Given the description of an element on the screen output the (x, y) to click on. 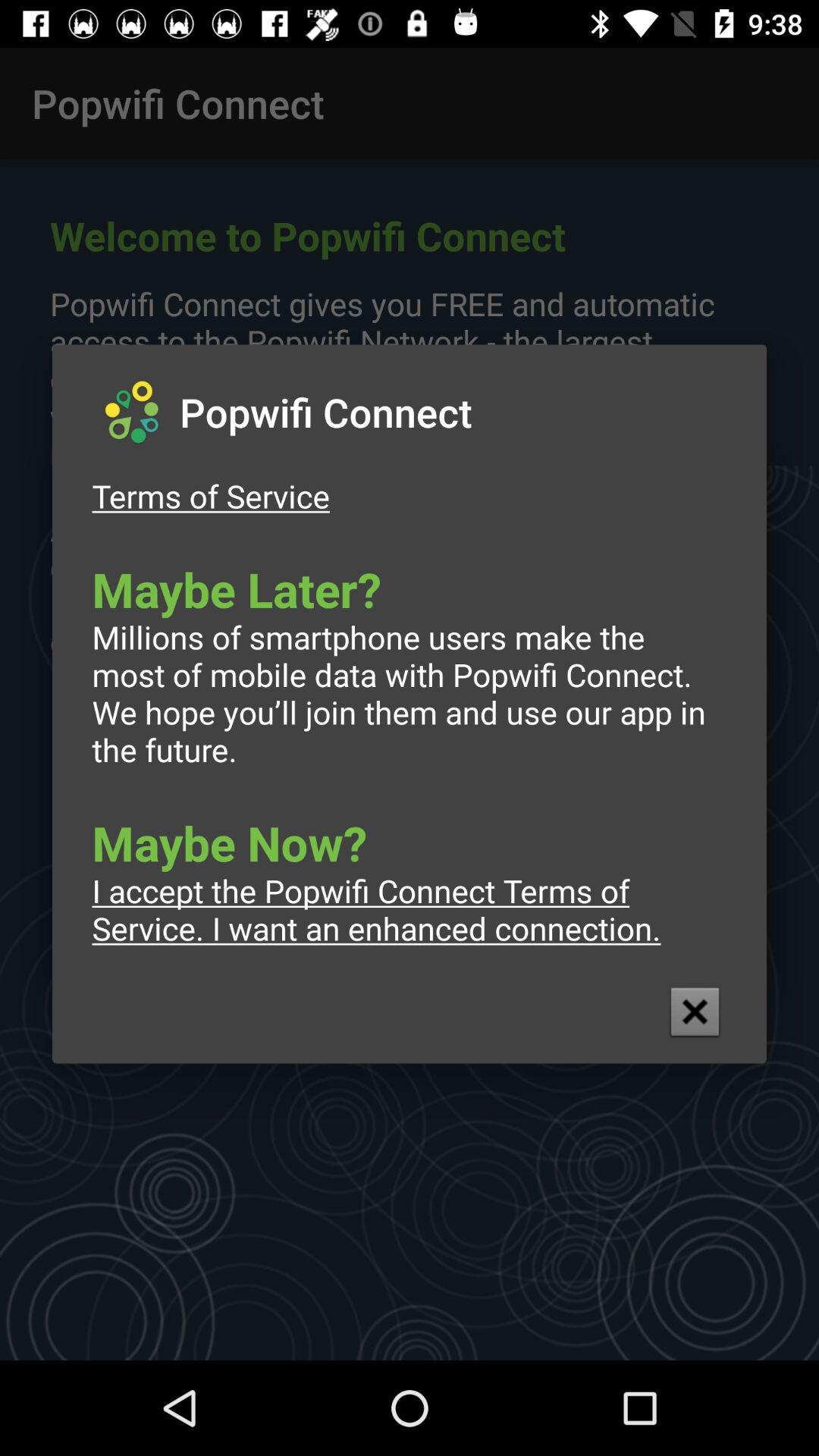
launch app below maybe now i item (694, 1011)
